Given the description of an element on the screen output the (x, y) to click on. 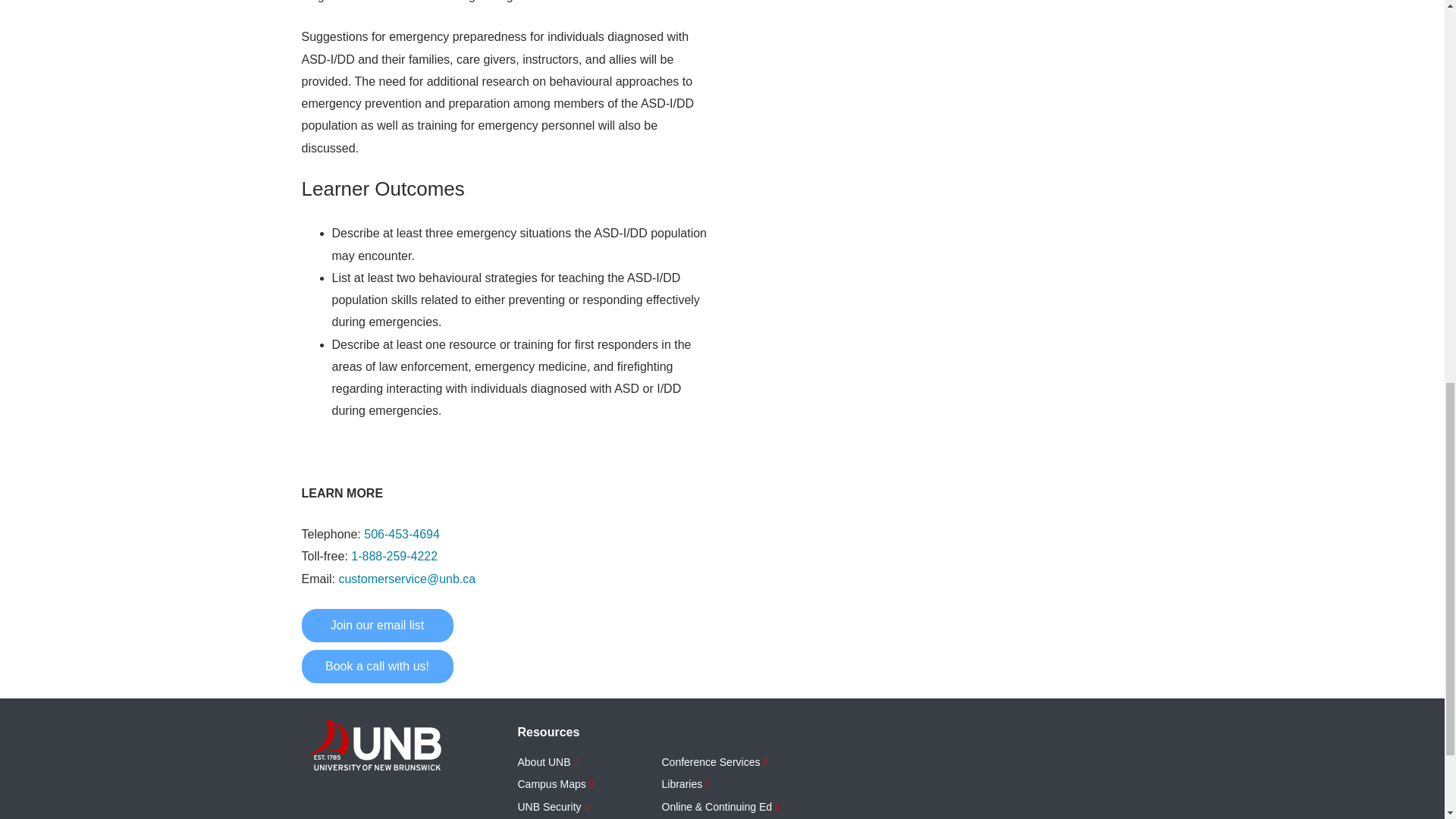
1-888-259-4222 (394, 555)
506-453-4694 (401, 533)
Join our email list (376, 625)
